Given the description of an element on the screen output the (x, y) to click on. 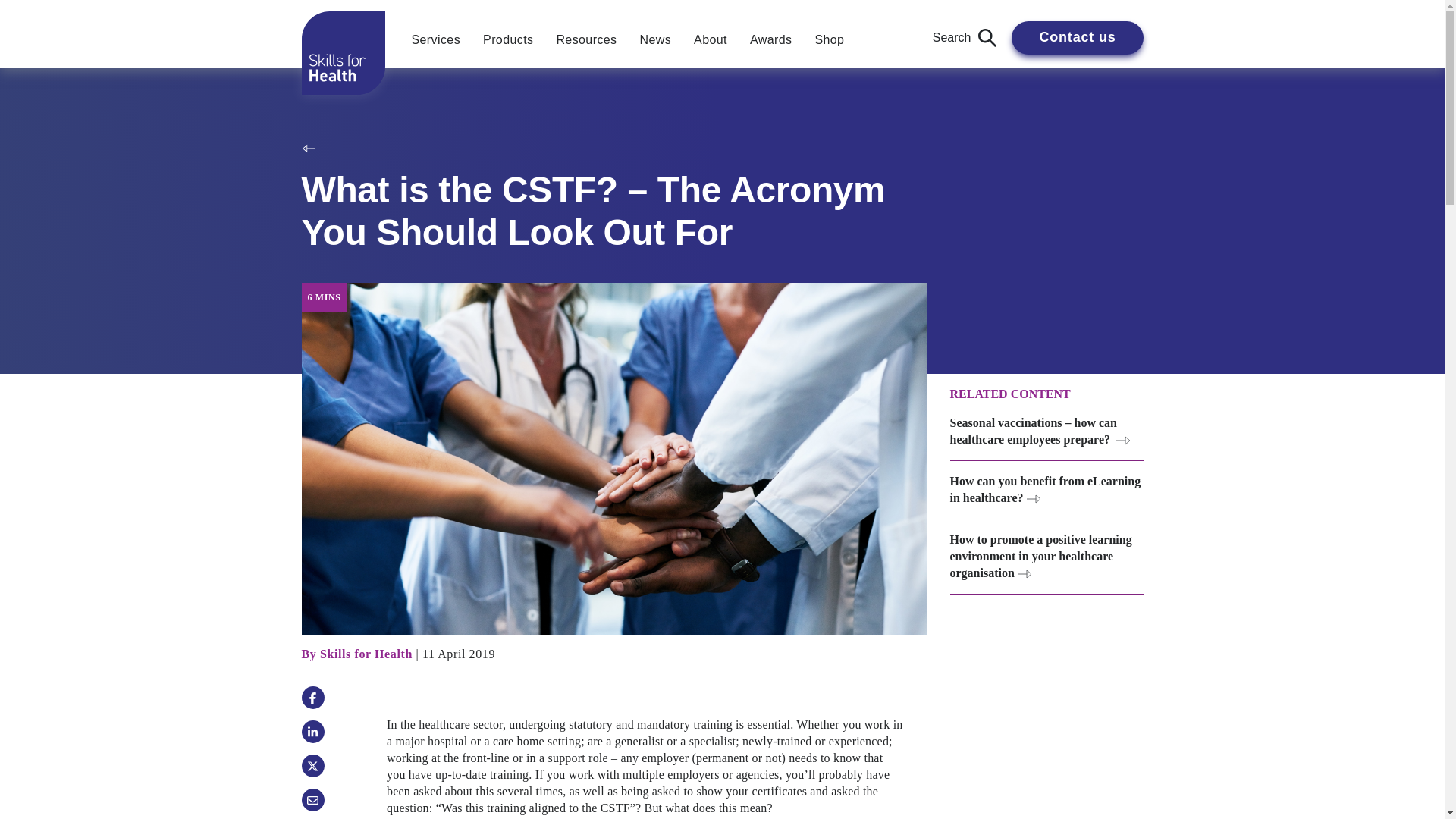
Products (507, 39)
Services (435, 39)
Shop (829, 39)
News (654, 39)
About (710, 39)
Contact us (1076, 37)
Share by Email (312, 799)
Tweet this (312, 765)
